Given the description of an element on the screen output the (x, y) to click on. 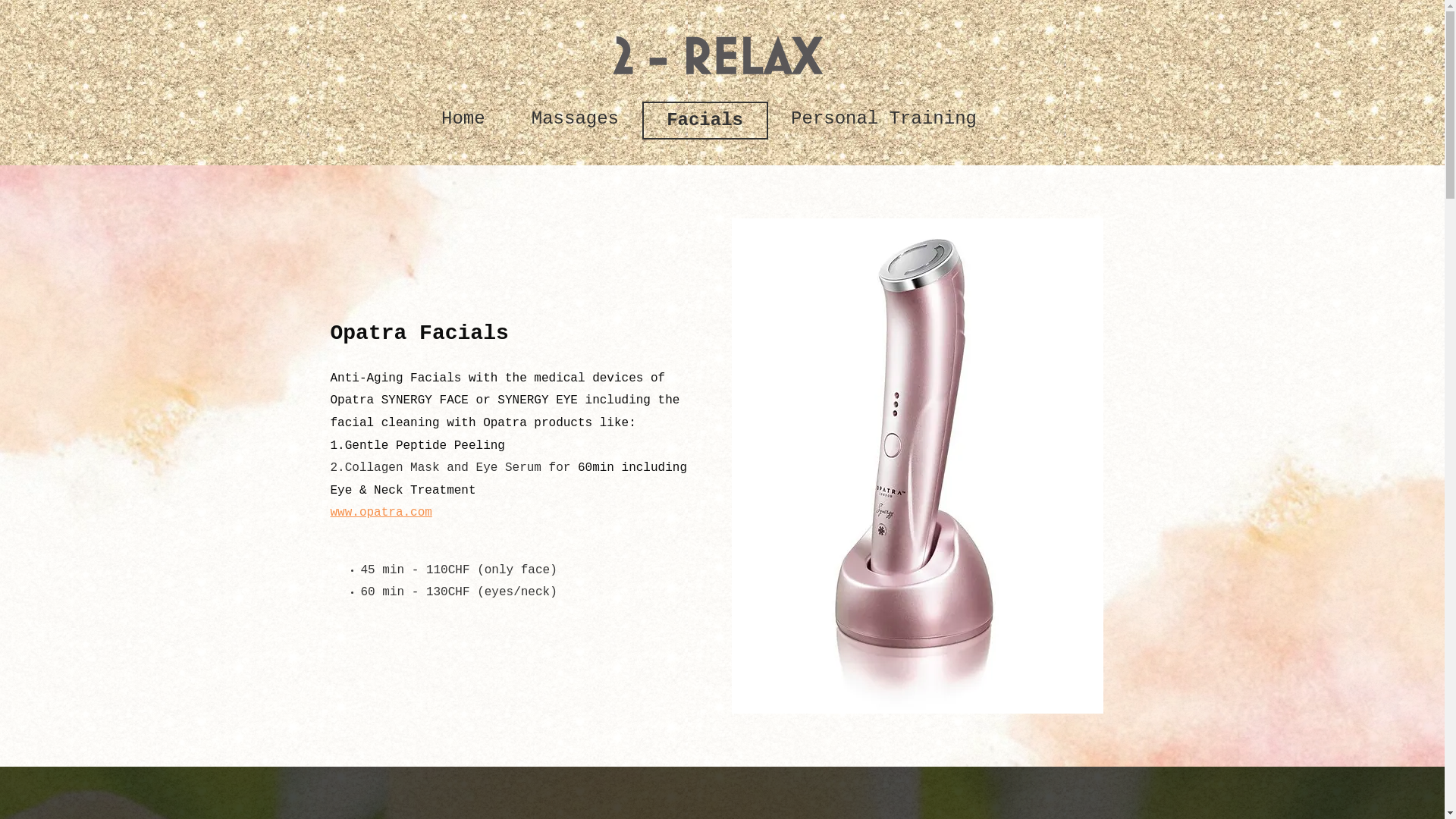
www.opatra.com Element type: text (381, 512)
Massages Element type: text (574, 118)
Facials Element type: text (705, 120)
Home Element type: text (463, 118)
Personal Training Element type: text (884, 118)
